Given the description of an element on the screen output the (x, y) to click on. 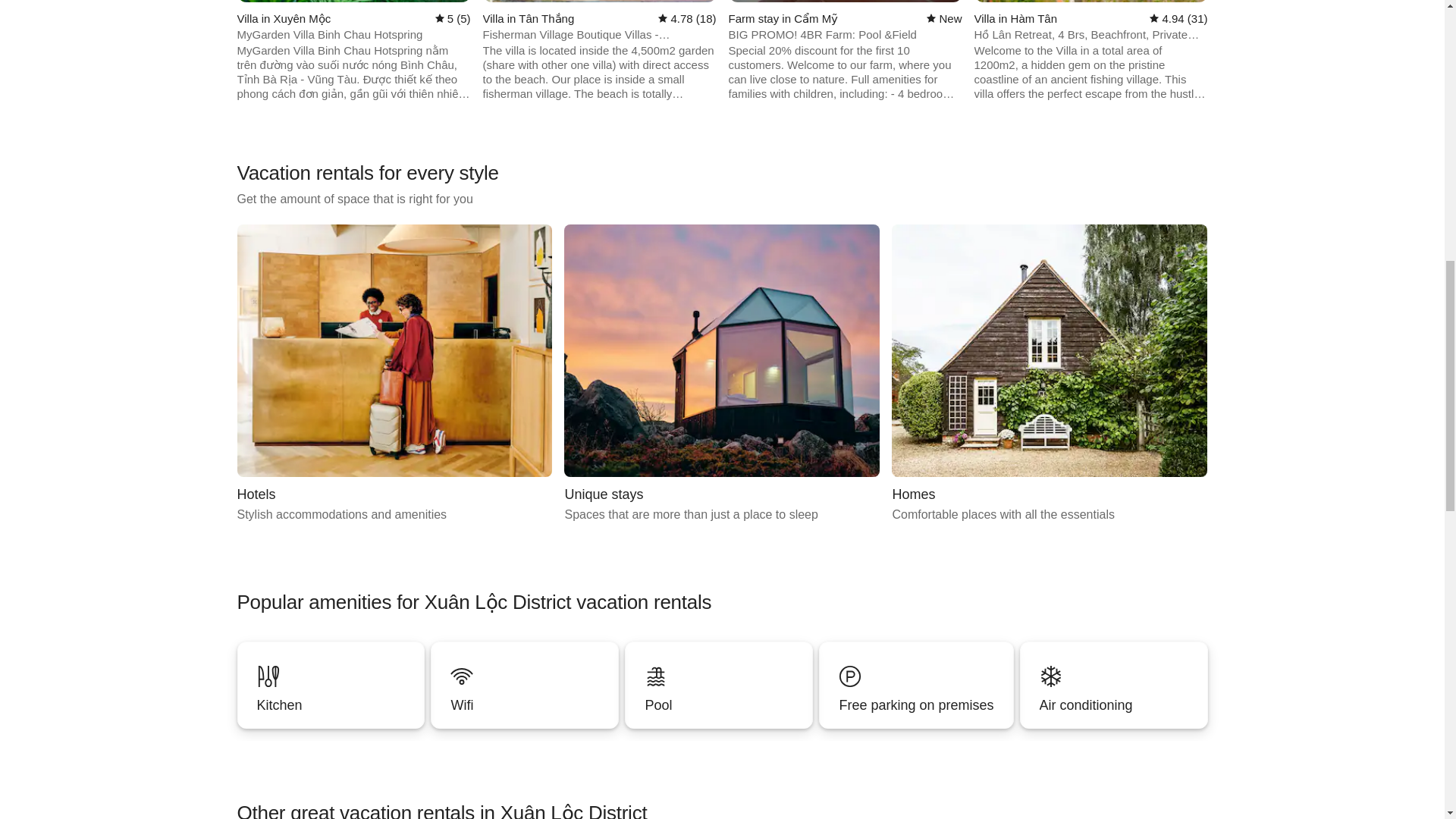
Free parking on premises (915, 684)
Wifi (524, 684)
Wifi (523, 704)
Air conditioning (393, 374)
Pool (1113, 704)
Air conditioning (718, 684)
Air conditioning (1114, 684)
Kitchen (1114, 684)
Free parking on premises (721, 374)
Free parking on premises (330, 704)
Kitchen (915, 704)
Pool (915, 684)
Kitchen (330, 684)
